Given the description of an element on the screen output the (x, y) to click on. 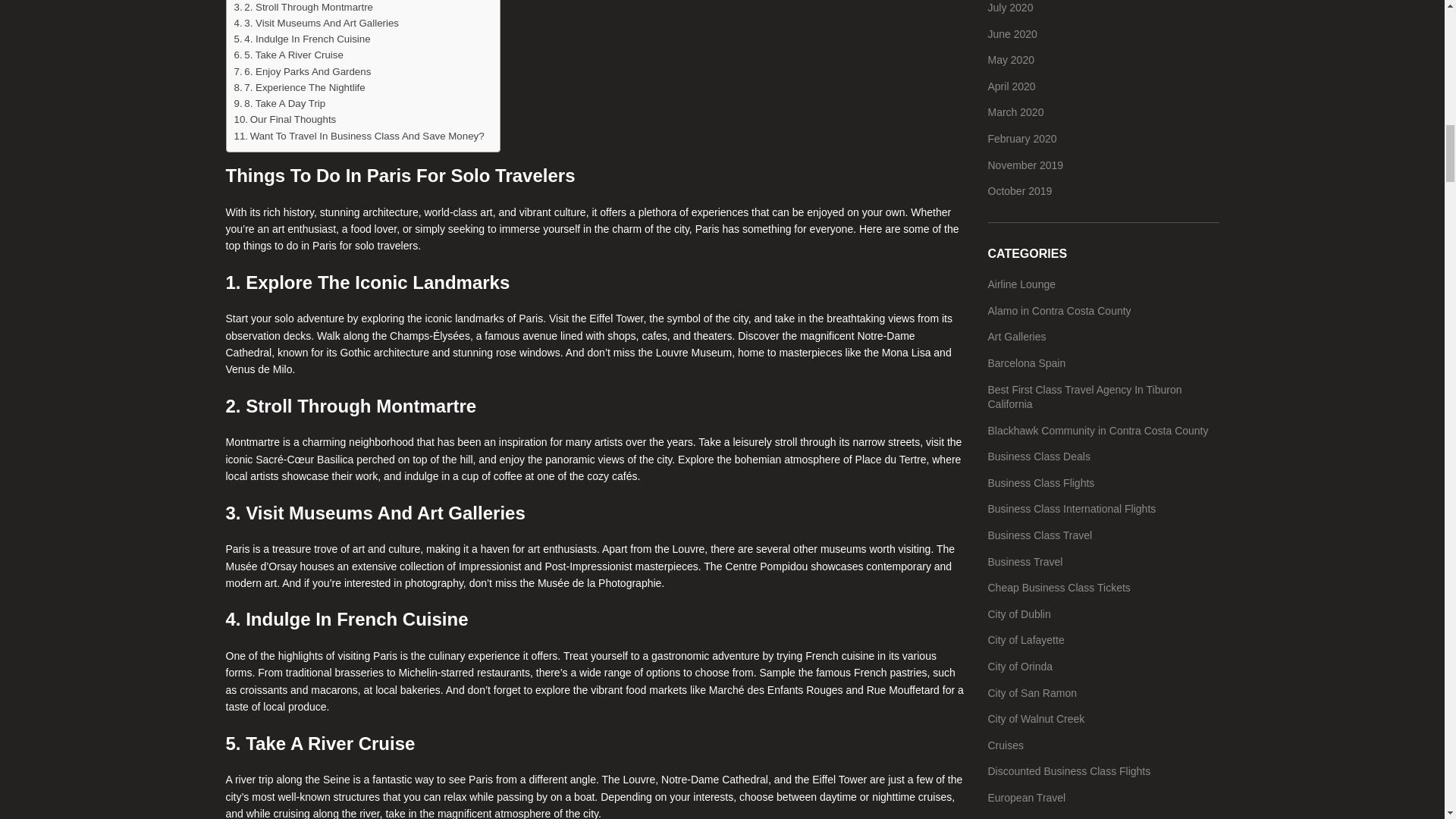
5. Take A River Cruise (287, 54)
2. Stroll Through Montmartre (302, 7)
8. Take A Day Trip (278, 103)
Our Final Thoughts (284, 119)
6. Enjoy Parks And Gardens (301, 71)
4. Indulge In French Cuisine (300, 38)
3. Visit Museums And Art Galleries (315, 23)
Want To Travel In Business Class And Save Money? (357, 135)
7. Experience The Nightlife (298, 87)
